Given the description of an element on the screen output the (x, y) to click on. 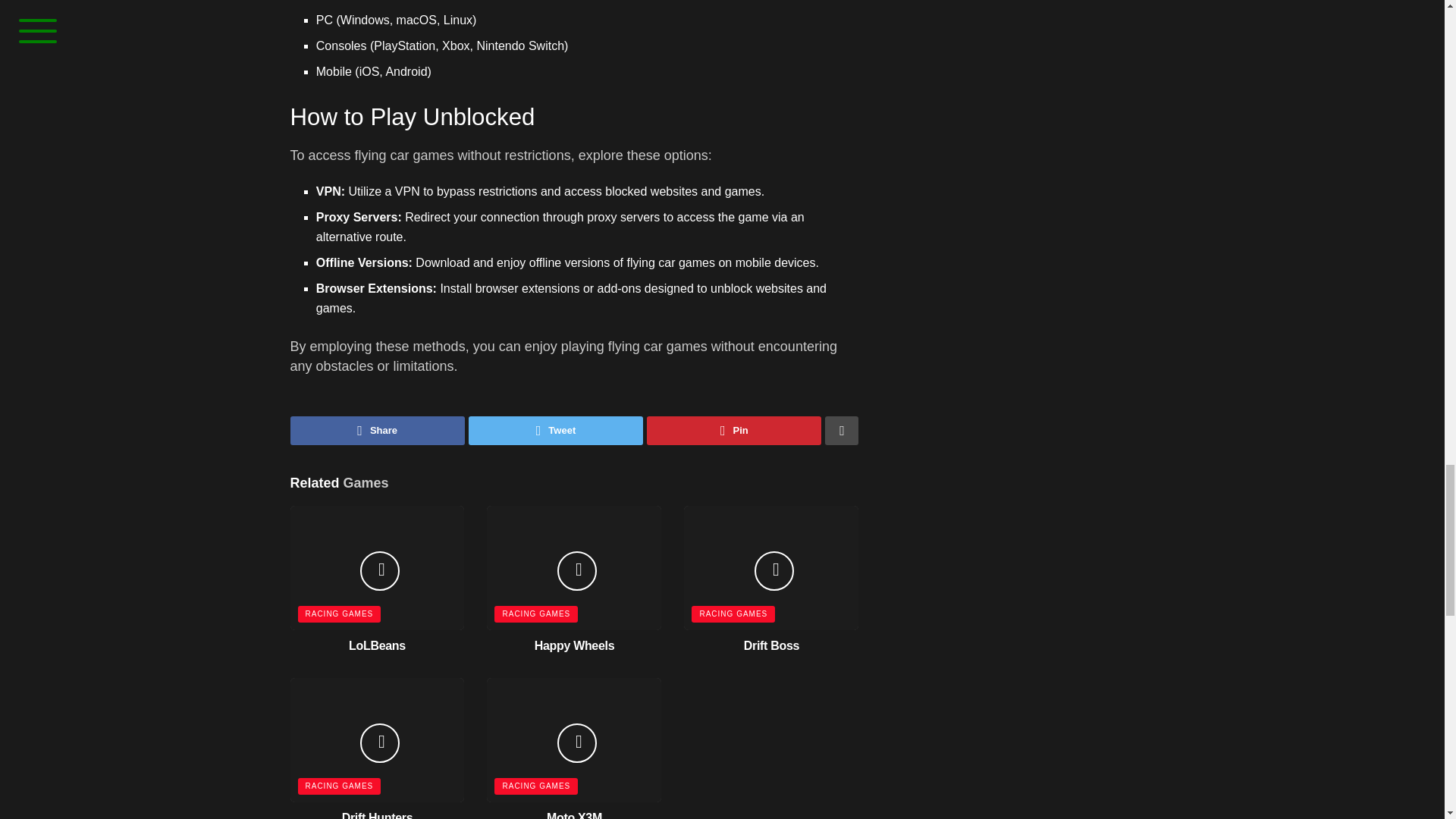
RACING GAMES (536, 614)
Tweet (555, 430)
Happy Wheels (574, 645)
Android (405, 71)
LoLBeans (377, 645)
Drift Boss (771, 645)
Pin (733, 430)
RACING GAMES (338, 614)
RACING GAMES (338, 786)
Share (376, 430)
RACING GAMES (732, 614)
